Given the description of an element on the screen output the (x, y) to click on. 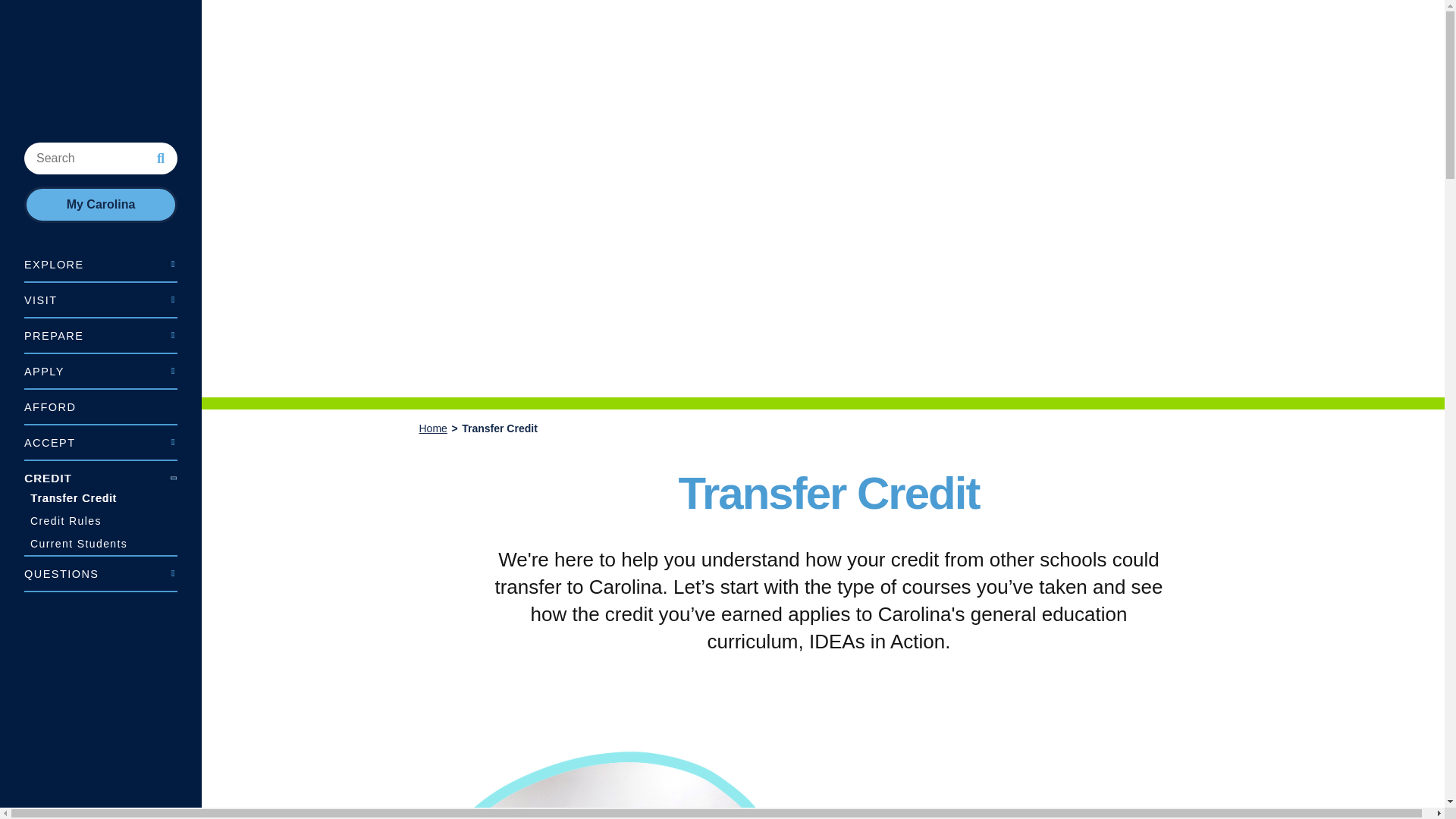
Credit Rules (100, 520)
Current Students (100, 543)
EXPLORE (100, 264)
Search (160, 158)
CREDIT (100, 473)
QUESTIONS (100, 573)
APPLY (100, 370)
Transfer Credit (100, 497)
VISIT (100, 299)
